Given the description of an element on the screen output the (x, y) to click on. 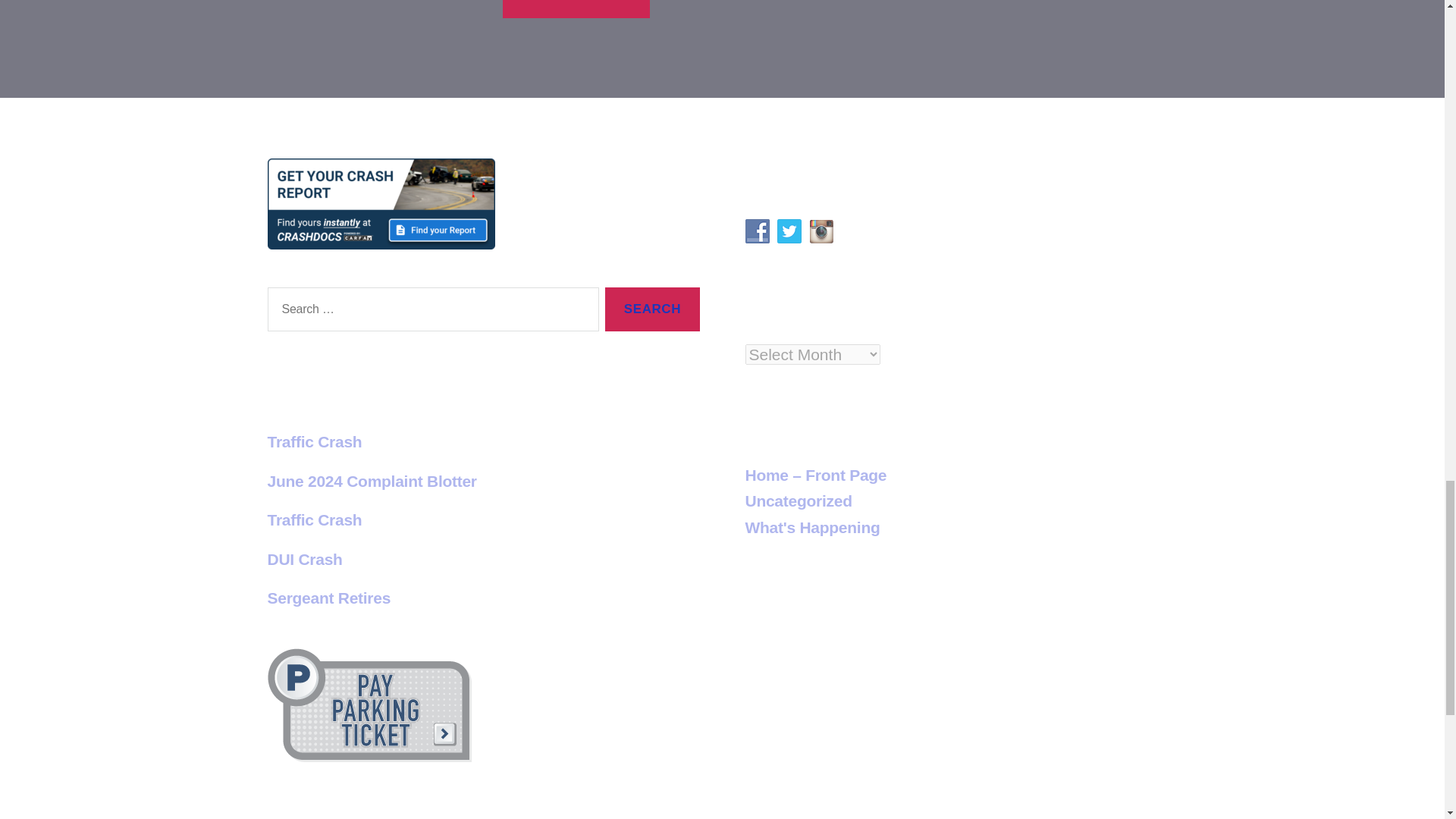
Follow Us on Twitter (788, 231)
Follow Us on Facebook (756, 231)
Follow Us on Instagram (820, 231)
Search (651, 309)
Search (651, 309)
Post Comment (575, 9)
